Given the description of an element on the screen output the (x, y) to click on. 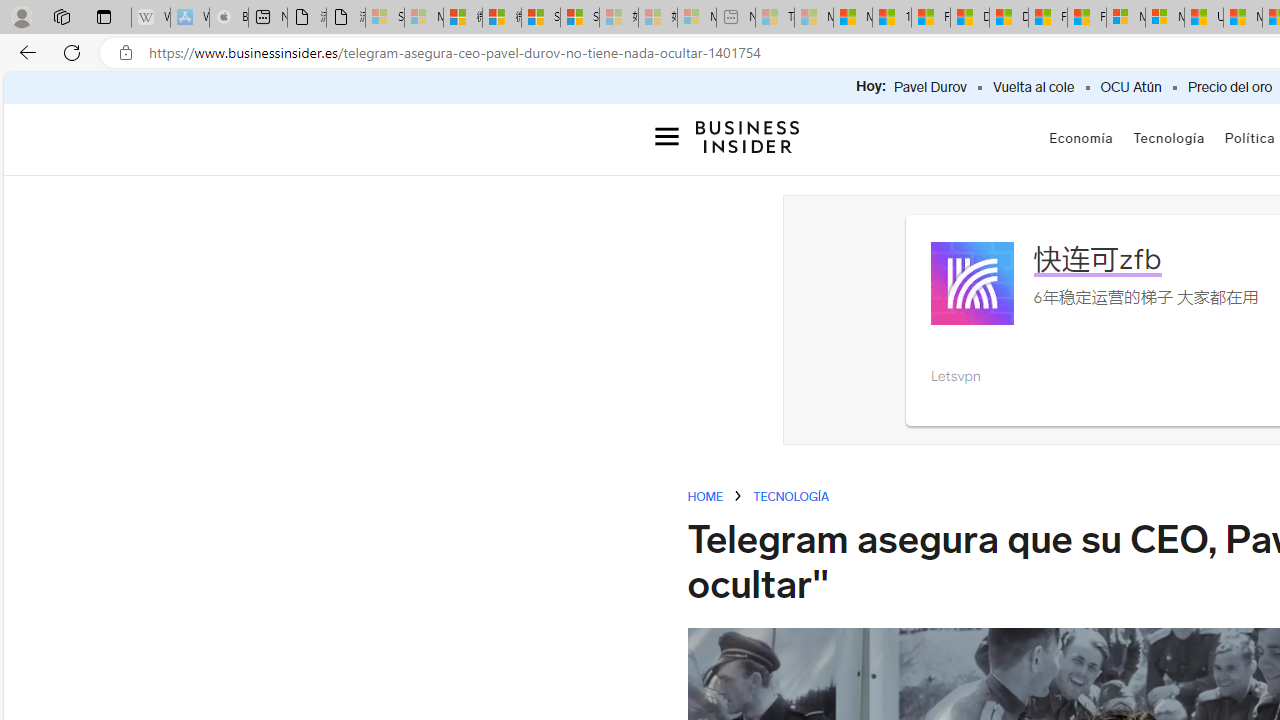
Logo BusinessInsider.es (748, 139)
Sign in to your Microsoft account - Sleeping (385, 17)
Pavel Durov (929, 88)
Microsoft Services Agreement - Sleeping (423, 17)
Buy iPad - Apple - Sleeping (228, 17)
